Given the description of an element on the screen output the (x, y) to click on. 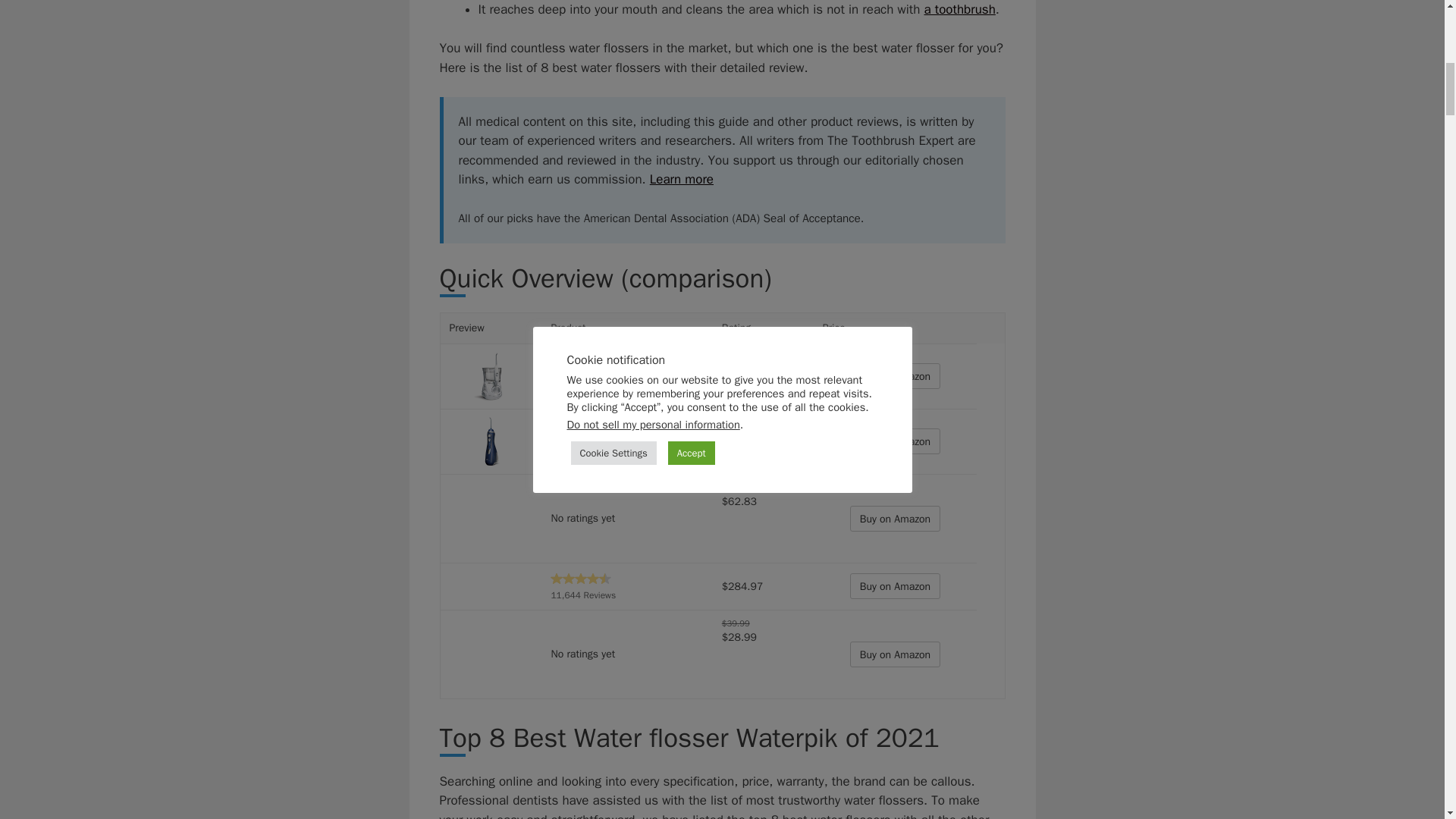
Buy on Amazon (895, 376)
Amazon Prime (742, 454)
Learn more (681, 179)
Buy on Amazon (895, 585)
Amazon Prime (742, 546)
a toothbrush (958, 9)
Buy on Amazon (895, 376)
Buy on Amazon (895, 654)
Buy on Amazon (895, 441)
Buy on Amazon (895, 518)
Reviews on Amazon (580, 368)
Amazon Prime (742, 390)
Buy on Amazon (895, 441)
